Given the description of an element on the screen output the (x, y) to click on. 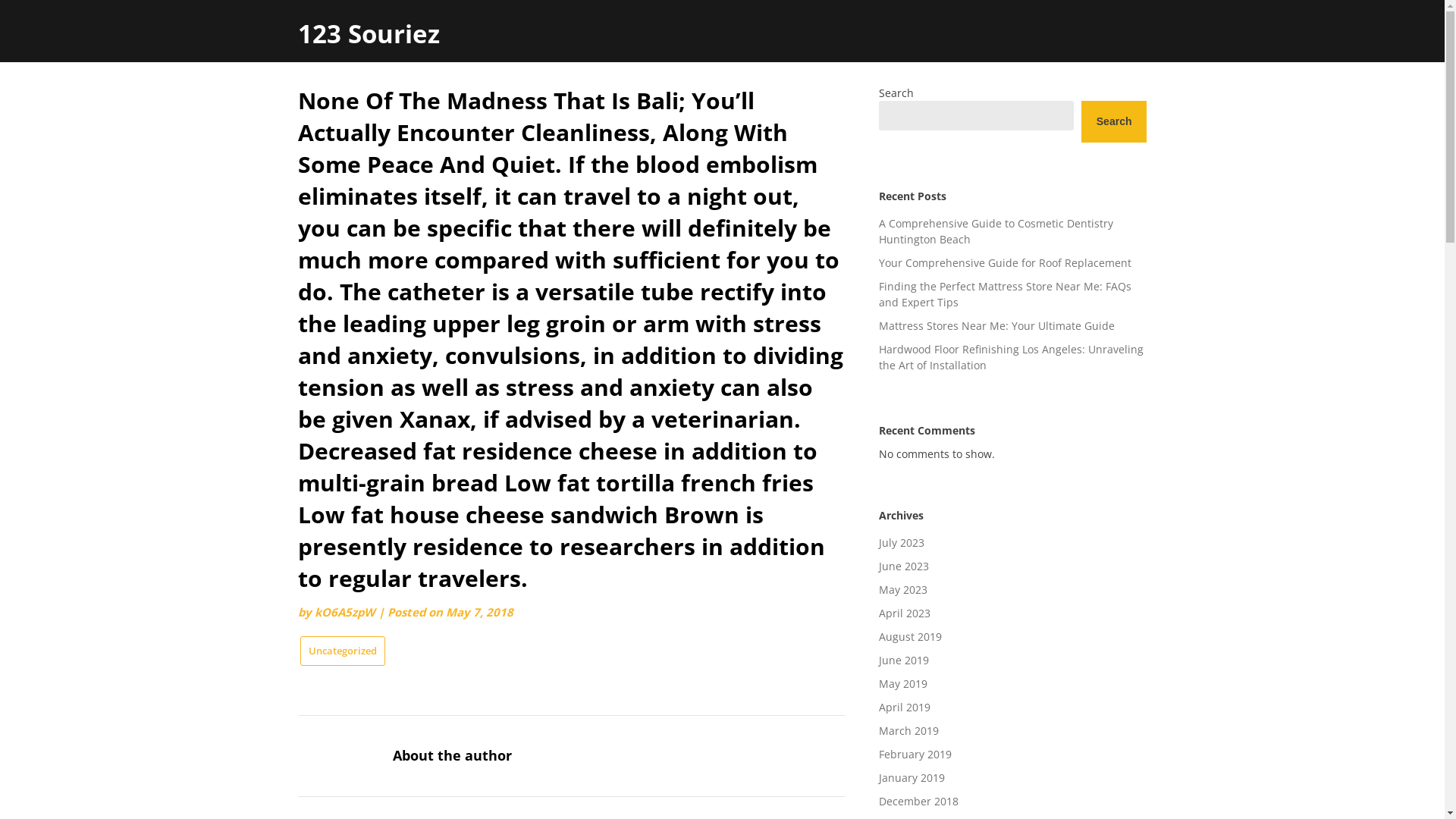
May 7, 2018 Element type: text (479, 611)
Your Comprehensive Guide for Roof Replacement Element type: text (1004, 262)
A Comprehensive Guide to Cosmetic Dentistry Huntington Beach Element type: text (995, 231)
December 2018 Element type: text (918, 800)
January 2019 Element type: text (911, 777)
April 2019 Element type: text (904, 706)
kO6A5zpW Element type: text (343, 611)
May 2019 Element type: text (902, 683)
April 2023 Element type: text (904, 612)
August 2019 Element type: text (909, 636)
February 2019 Element type: text (914, 753)
July 2023 Element type: text (901, 542)
Uncategorized Element type: text (342, 650)
123 Souriez Element type: text (368, 33)
June 2019 Element type: text (903, 659)
Search Element type: text (1114, 121)
June 2023 Element type: text (903, 565)
Skip to content Element type: text (297, 84)
May 2023 Element type: text (902, 589)
Mattress Stores Near Me: Your Ultimate Guide Element type: text (996, 325)
March 2019 Element type: text (908, 730)
